Given the description of an element on the screen output the (x, y) to click on. 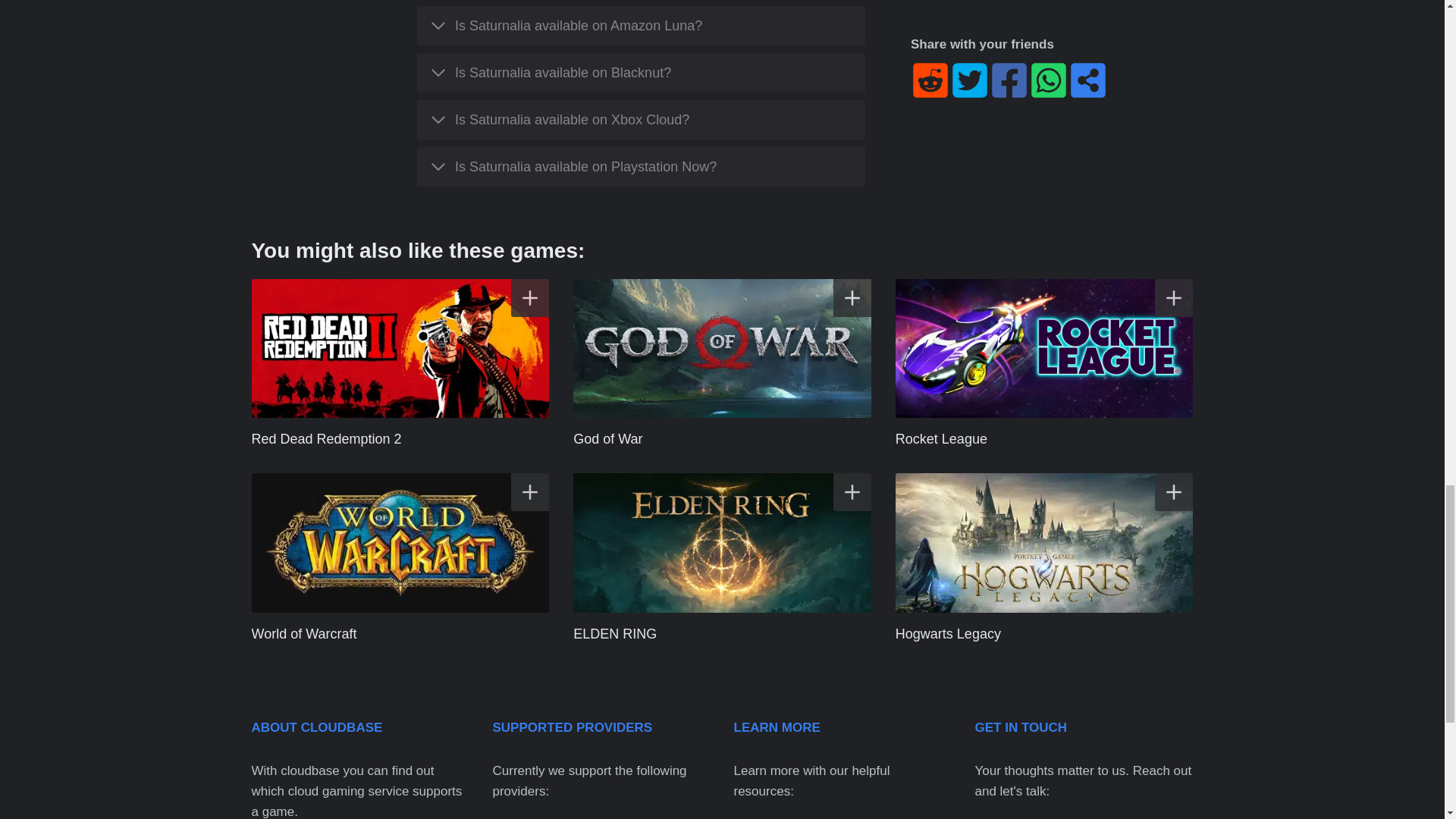
Rocket League 5 (1044, 348)
God of War 4 (721, 348)
World of Warcraft 6 (400, 542)
ELDEN RING 7 (721, 542)
Hogwarts Legacy 8 (1044, 542)
Red Dead Redemption 2 3 (400, 348)
